Given the description of an element on the screen output the (x, y) to click on. 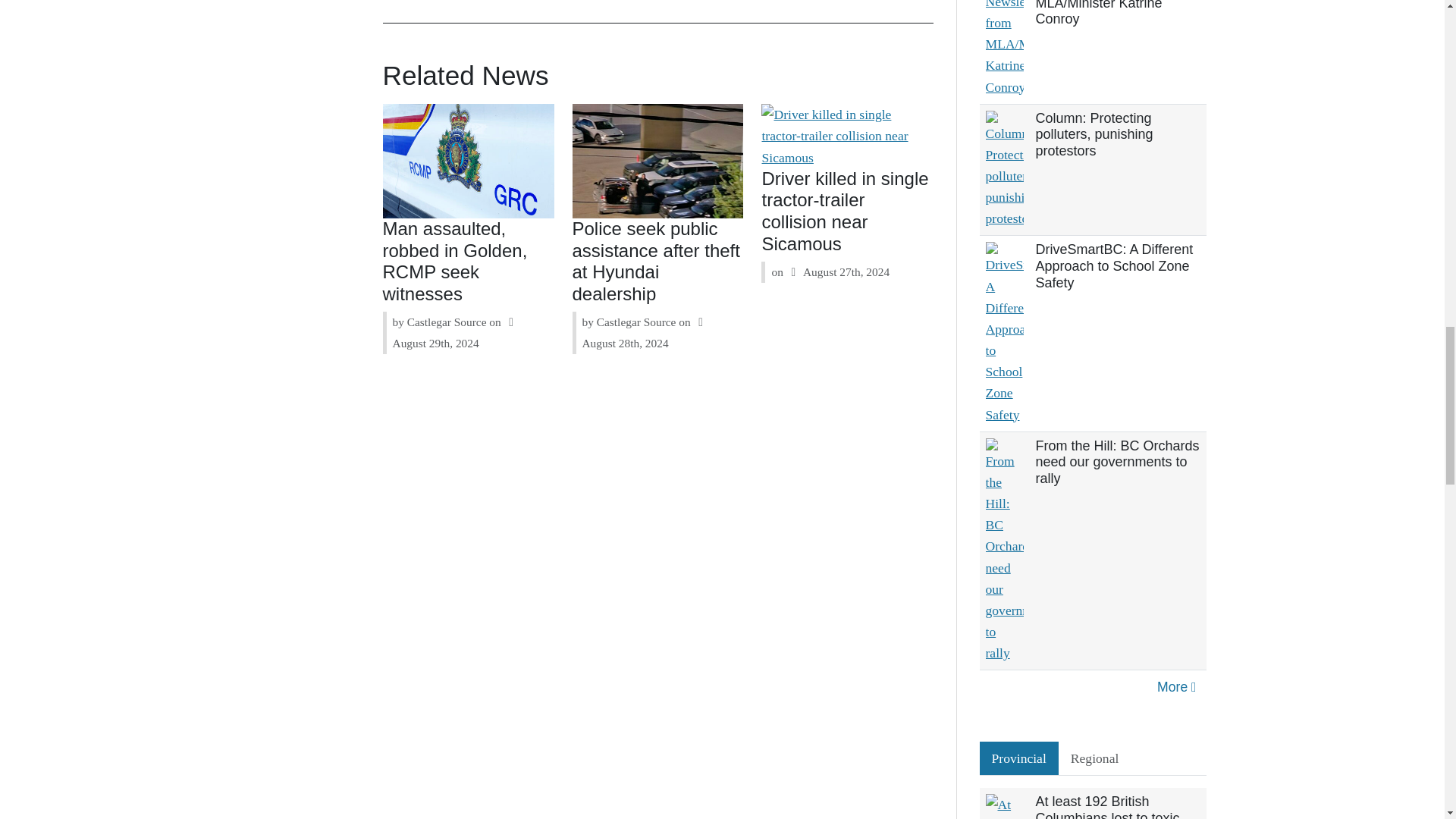
Column: Protecting polluters, punishing protestors (1094, 134)
DriveSmartBC: A Different Approach to School Zone Safety (1114, 265)
Man assaulted, robbed in Golden, RCMP seek witnesses (454, 260)
